Given the description of an element on the screen output the (x, y) to click on. 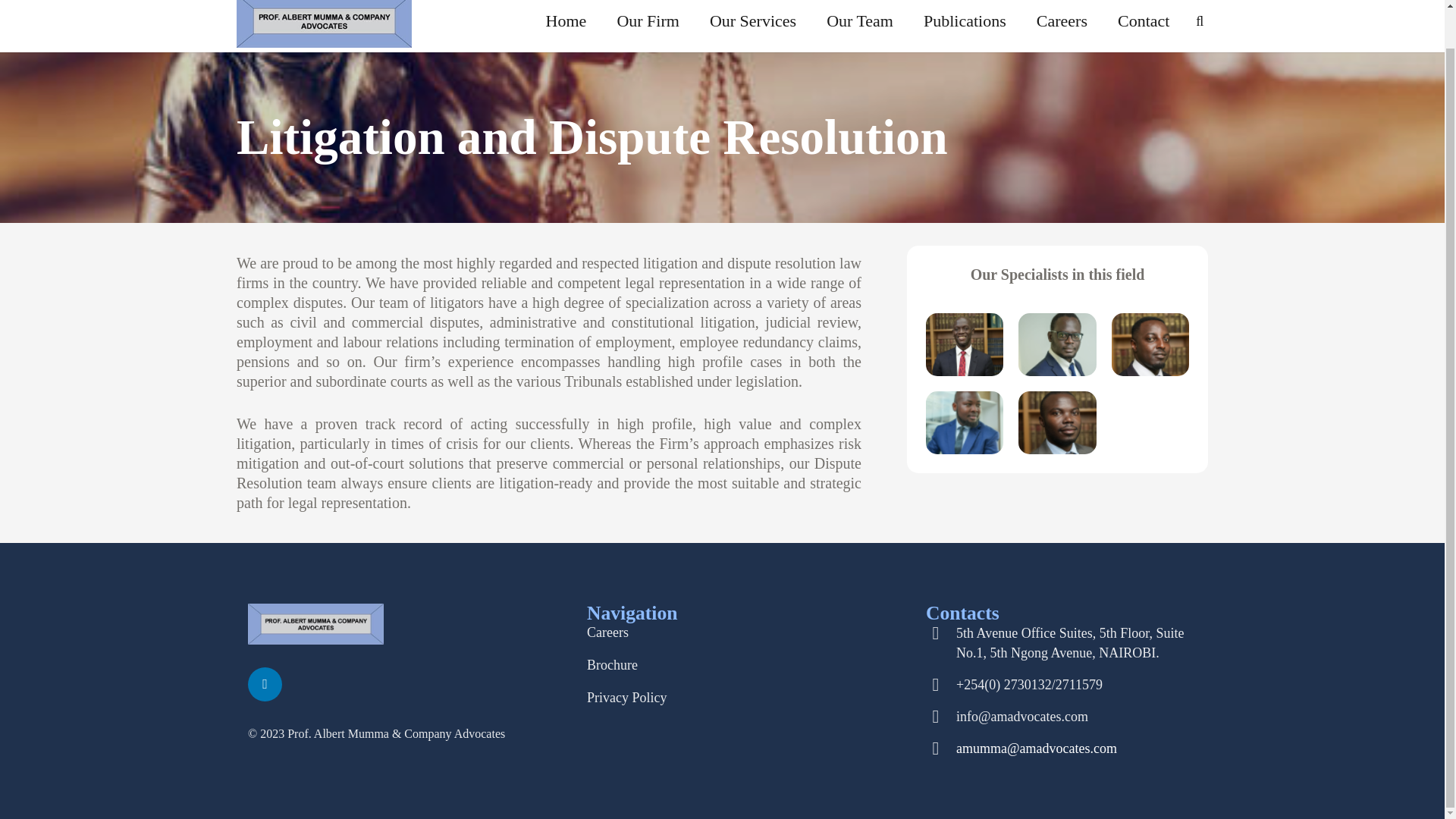
Contact (1143, 26)
Home (566, 26)
Careers (1062, 26)
LinkedIn (264, 684)
Privacy Policy (626, 697)
Publications (965, 26)
Our Services (752, 26)
Brochure (611, 664)
Careers (607, 631)
Our Firm (647, 26)
Our Team (859, 26)
